Given the description of an element on the screen output the (x, y) to click on. 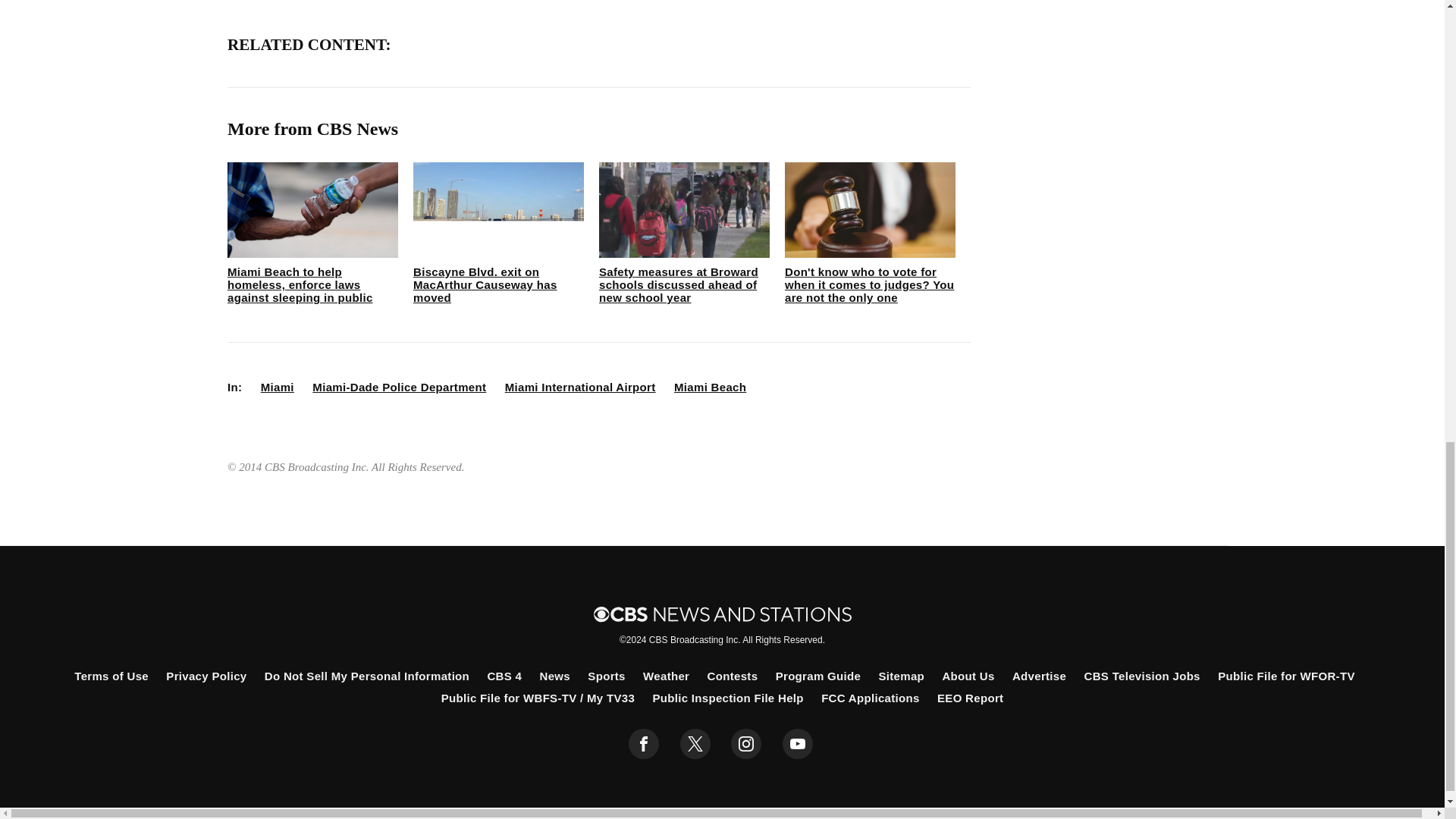
facebook (643, 743)
youtube (797, 743)
twitter (694, 743)
instagram (745, 743)
